Given the description of an element on the screen output the (x, y) to click on. 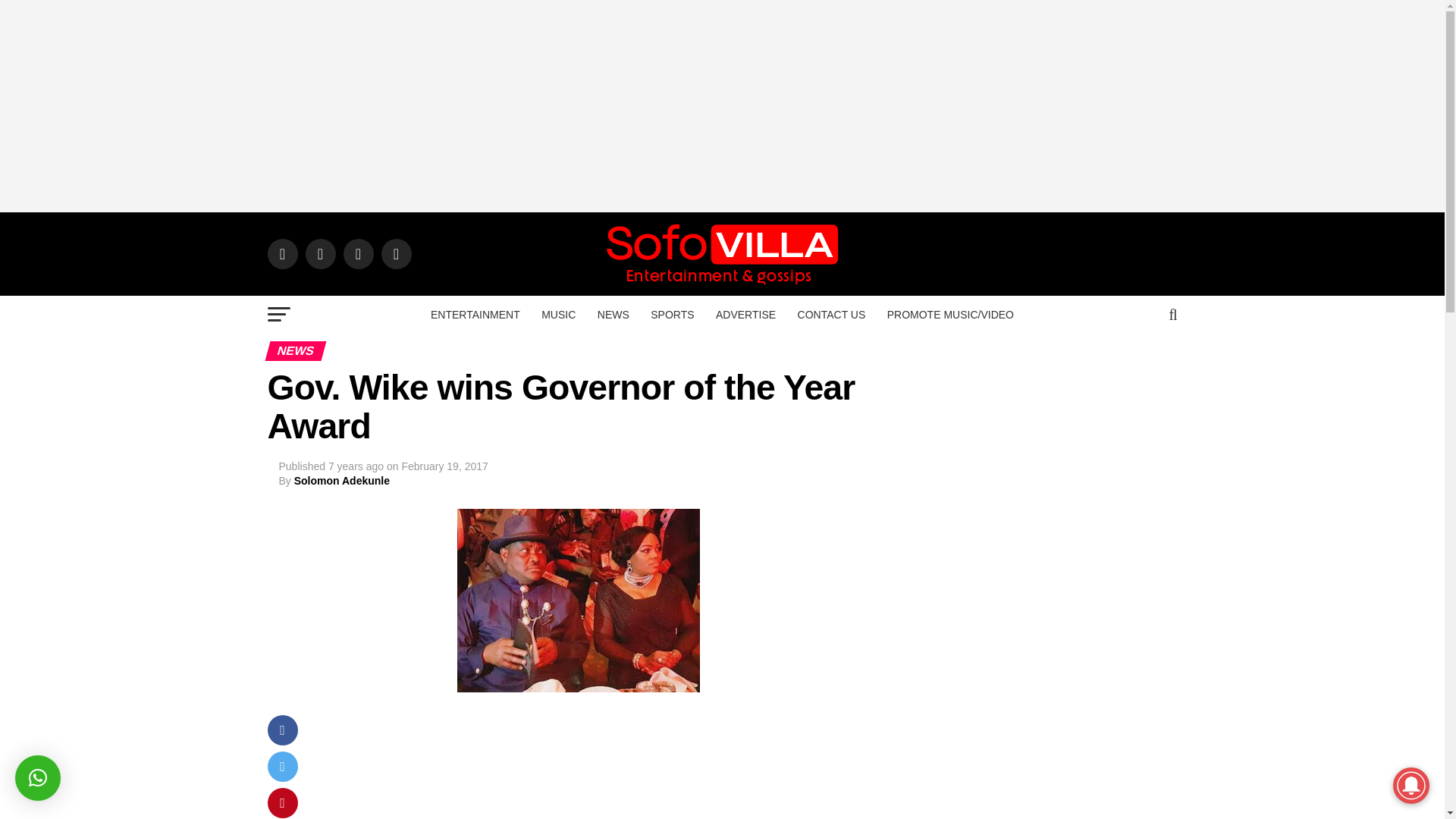
SPORTS (672, 314)
NEWS (613, 314)
MUSIC (558, 314)
ENTERTAINMENT (475, 314)
Posts by Solomon Adekunle (342, 480)
Advertisement (607, 766)
